Given the description of an element on the screen output the (x, y) to click on. 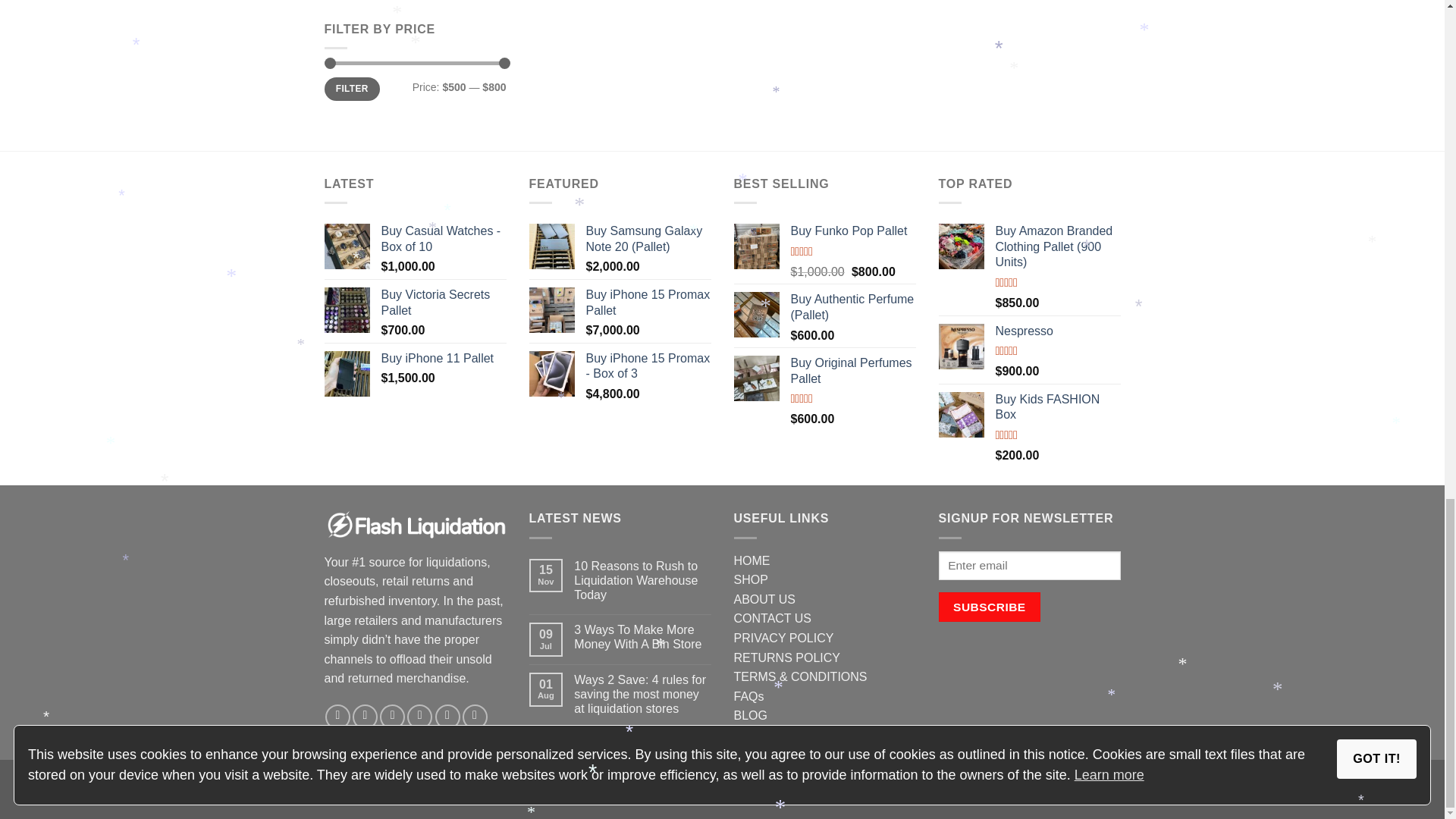
Follow on Instagram (364, 716)
Send us an email (419, 716)
Follow on Twitter (392, 716)
SUBSCRIBE (990, 606)
Follow on Facebook (337, 716)
